Given the description of an element on the screen output the (x, y) to click on. 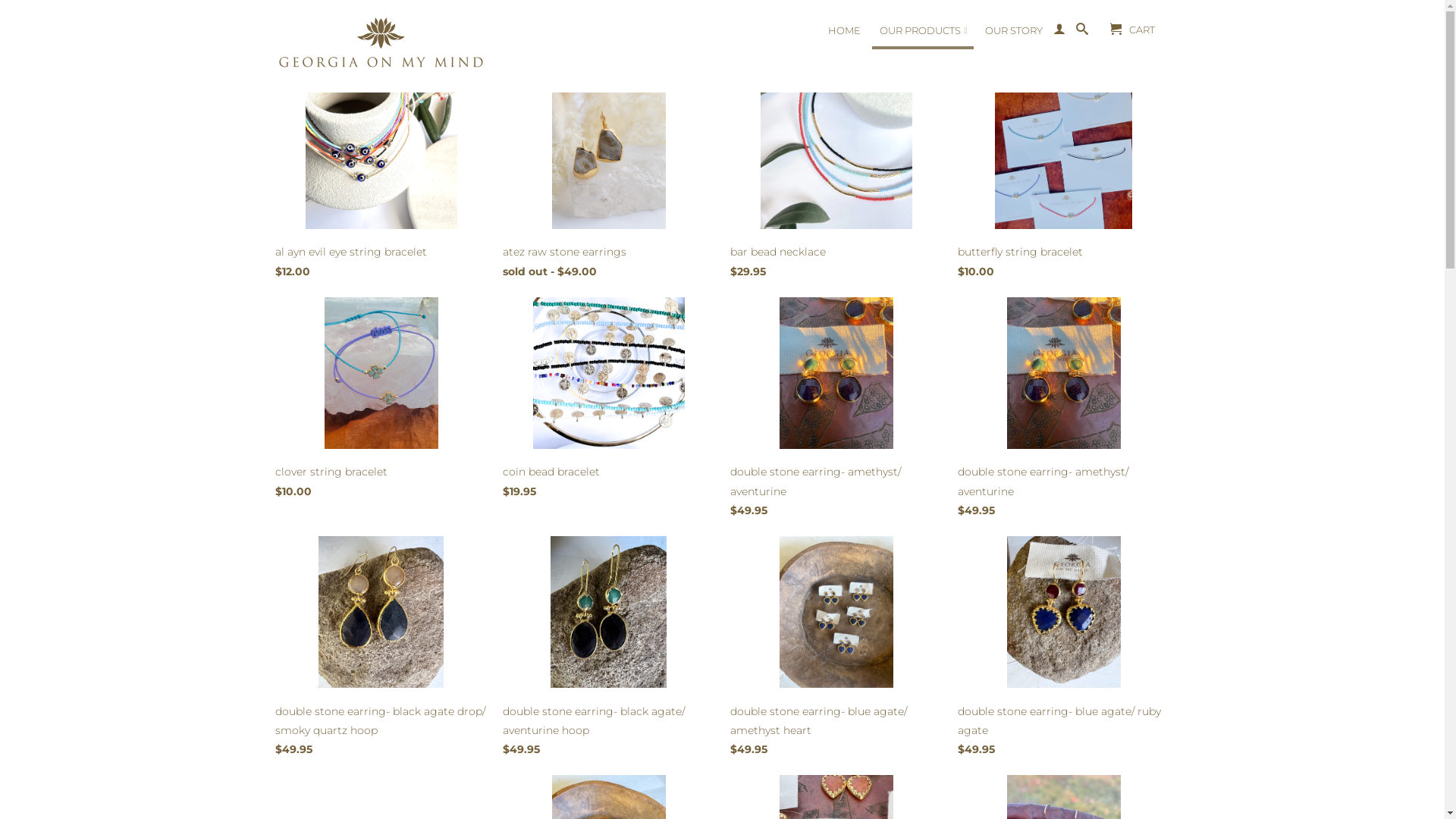
al ayn evil eye string bracelet
$12.00 Element type: text (380, 181)
Search Element type: hover (1081, 32)
HOME Element type: text (844, 33)
My Account  Element type: hover (1058, 32)
OUR STORY Element type: text (1012, 33)
double stone earring- blue agate/ amethyst heart
$49.95 Element type: text (835, 650)
CART Element type: text (1131, 28)
coin bead bracelet
$19.95 Element type: text (608, 401)
atez raw stone earrings
sold out - $49.00 Element type: text (608, 181)
double stone earring- blue agate/ ruby agate
$49.95 Element type: text (1063, 650)
double stone earring- amethyst/ aventurine
$49.95 Element type: text (835, 411)
double stone earring- black agate/ aventurine hoop
$49.95 Element type: text (608, 650)
jewellery Element type: text (342, 24)
butterfly string bracelet
$10.00 Element type: text (1063, 181)
home Element type: text (289, 24)
double stone earring- amethyst/ aventurine
$49.95 Element type: text (1063, 411)
Georgia On My Mind Element type: hover (380, 47)
clover string bracelet
$10.00 Element type: text (380, 401)
bar bead necklace
$29.95 Element type: text (835, 181)
